Given the description of an element on the screen output the (x, y) to click on. 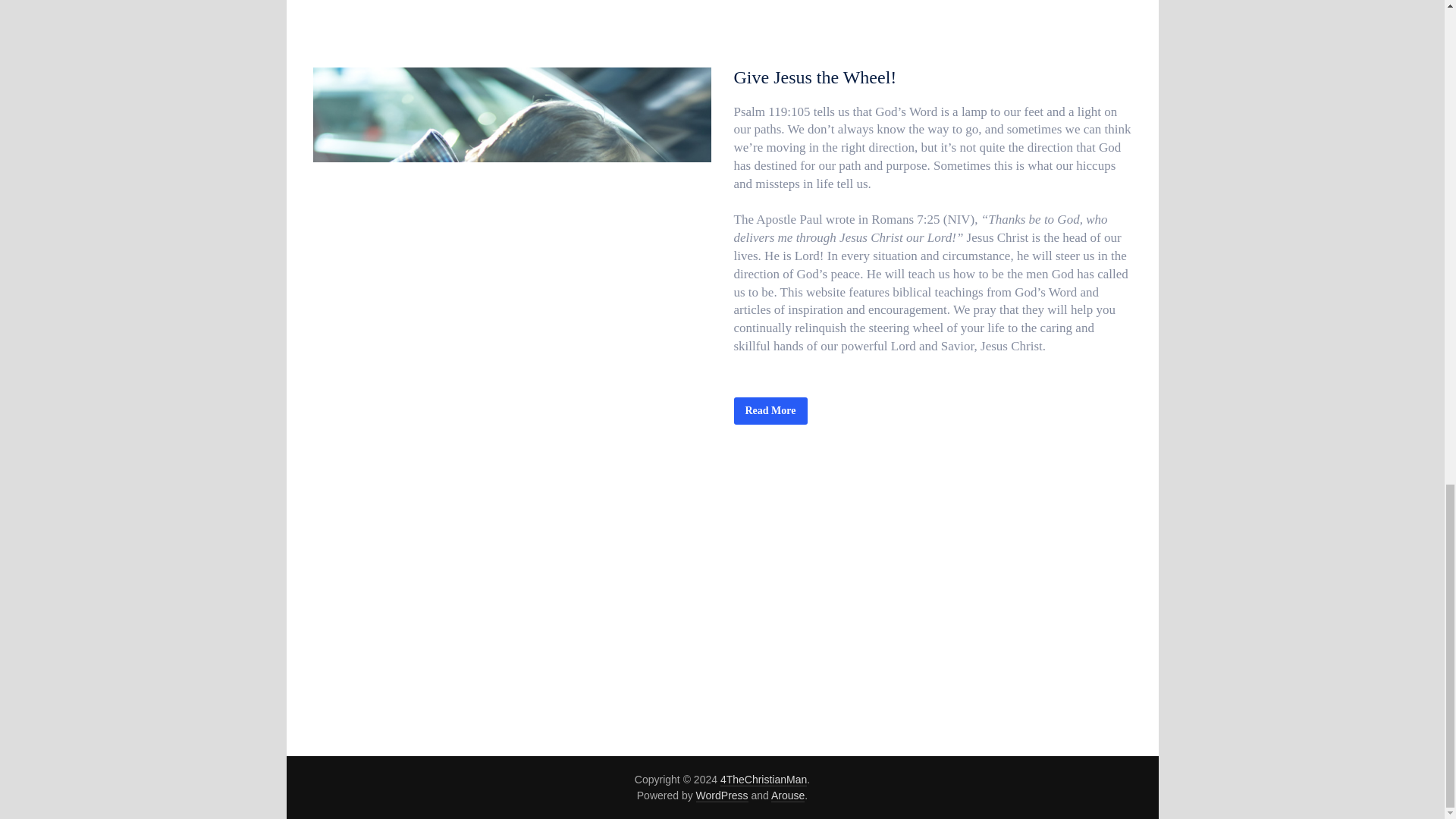
Arouse WordPress Theme (788, 795)
Read More (770, 411)
4TheChristianMan (763, 779)
4TheChristianMan (763, 779)
WordPress (721, 795)
Arouse (788, 795)
WordPress (721, 795)
